Given the description of an element on the screen output the (x, y) to click on. 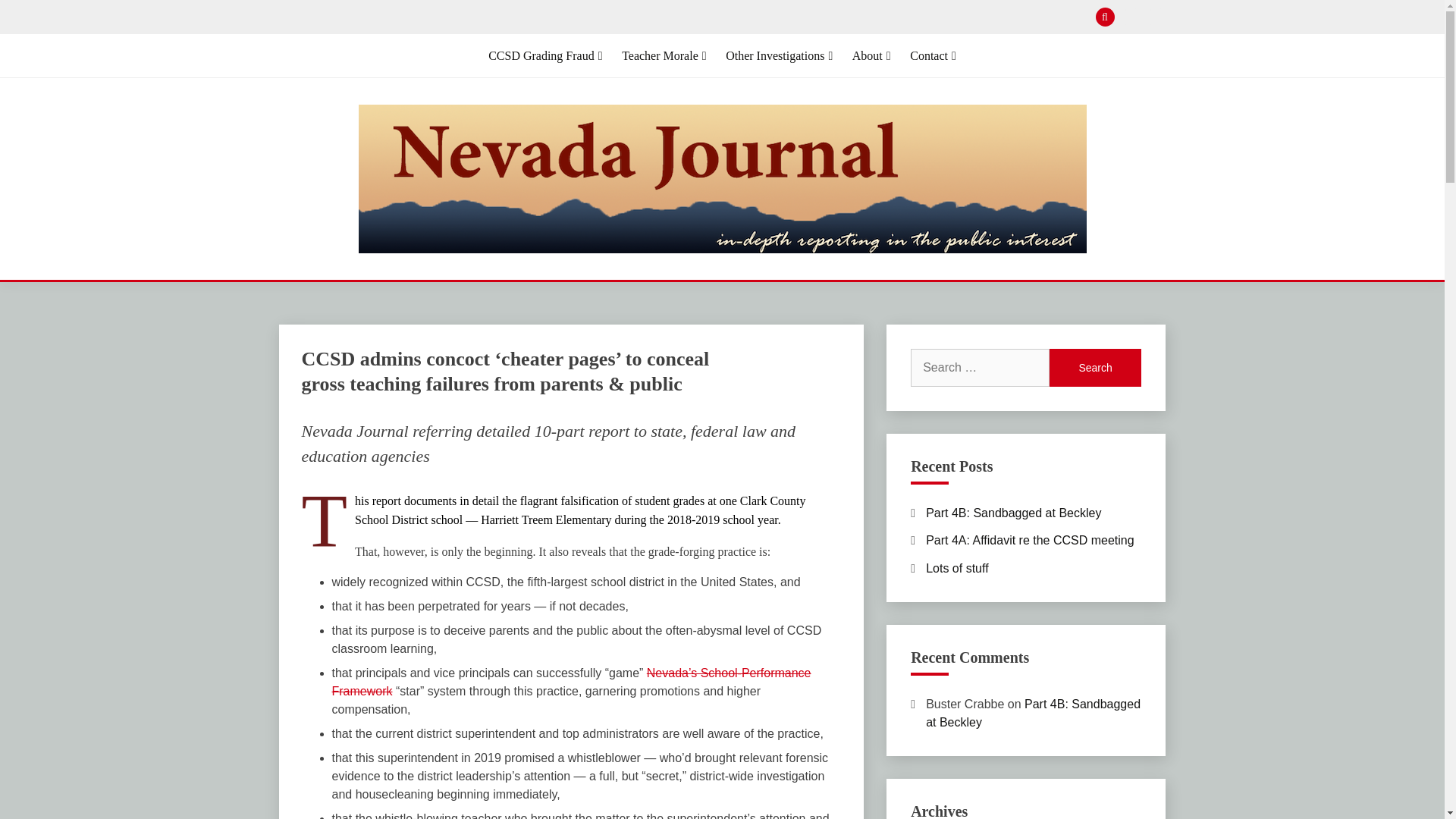
About (871, 55)
Part 4A: Affidavit re the CCSD meeting (1030, 540)
CCSD Grading Fraud (544, 55)
Search (1095, 367)
Search (1095, 367)
Teacher Morale (663, 55)
Part 4B: Sandbagged at Beckley (1013, 512)
Nevada Journal (427, 284)
Search (832, 18)
Posts (1156, 16)
